Given the description of an element on the screen output the (x, y) to click on. 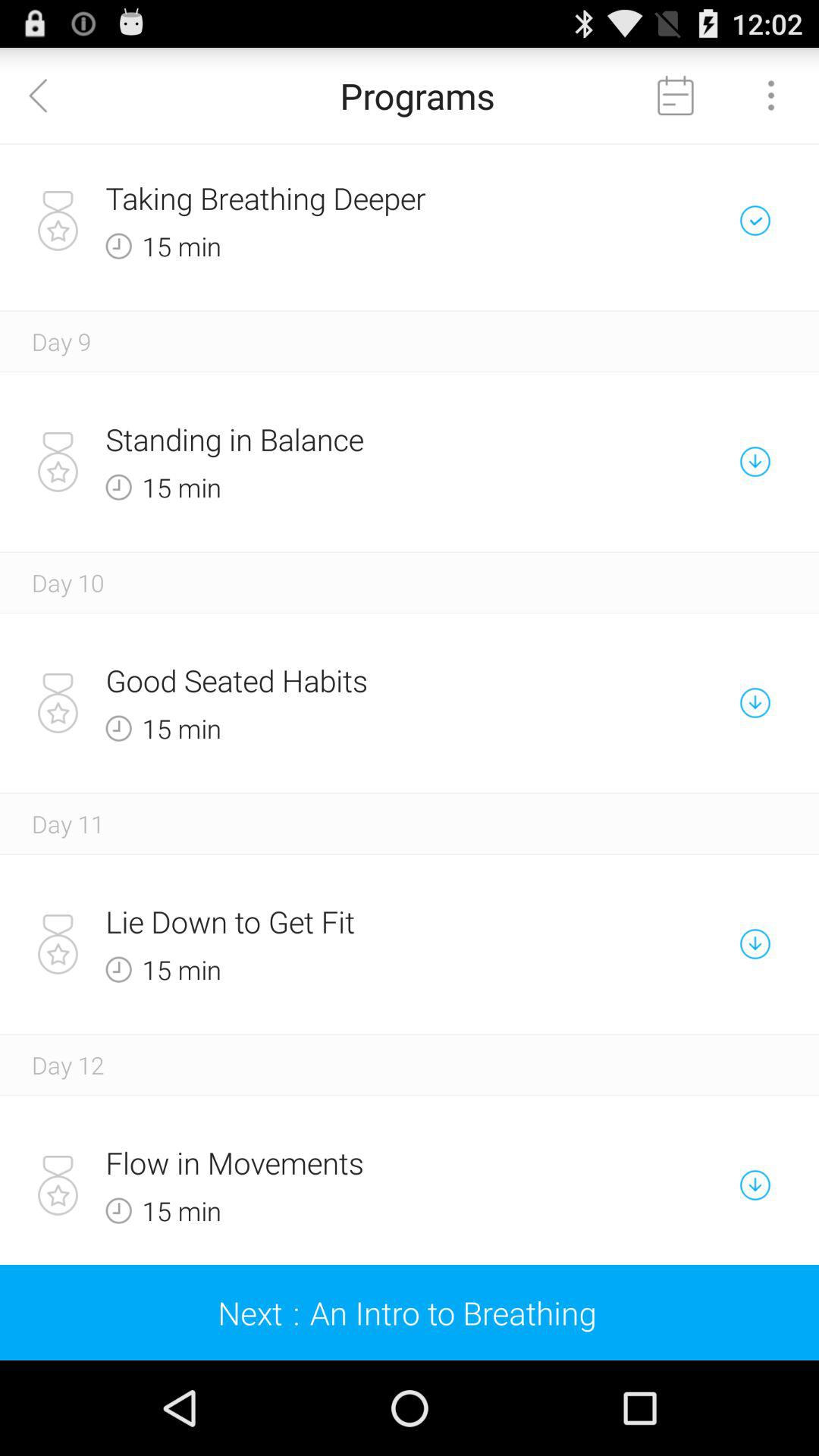
swipe to the taking breathing deeper (356, 198)
